Given the description of an element on the screen output the (x, y) to click on. 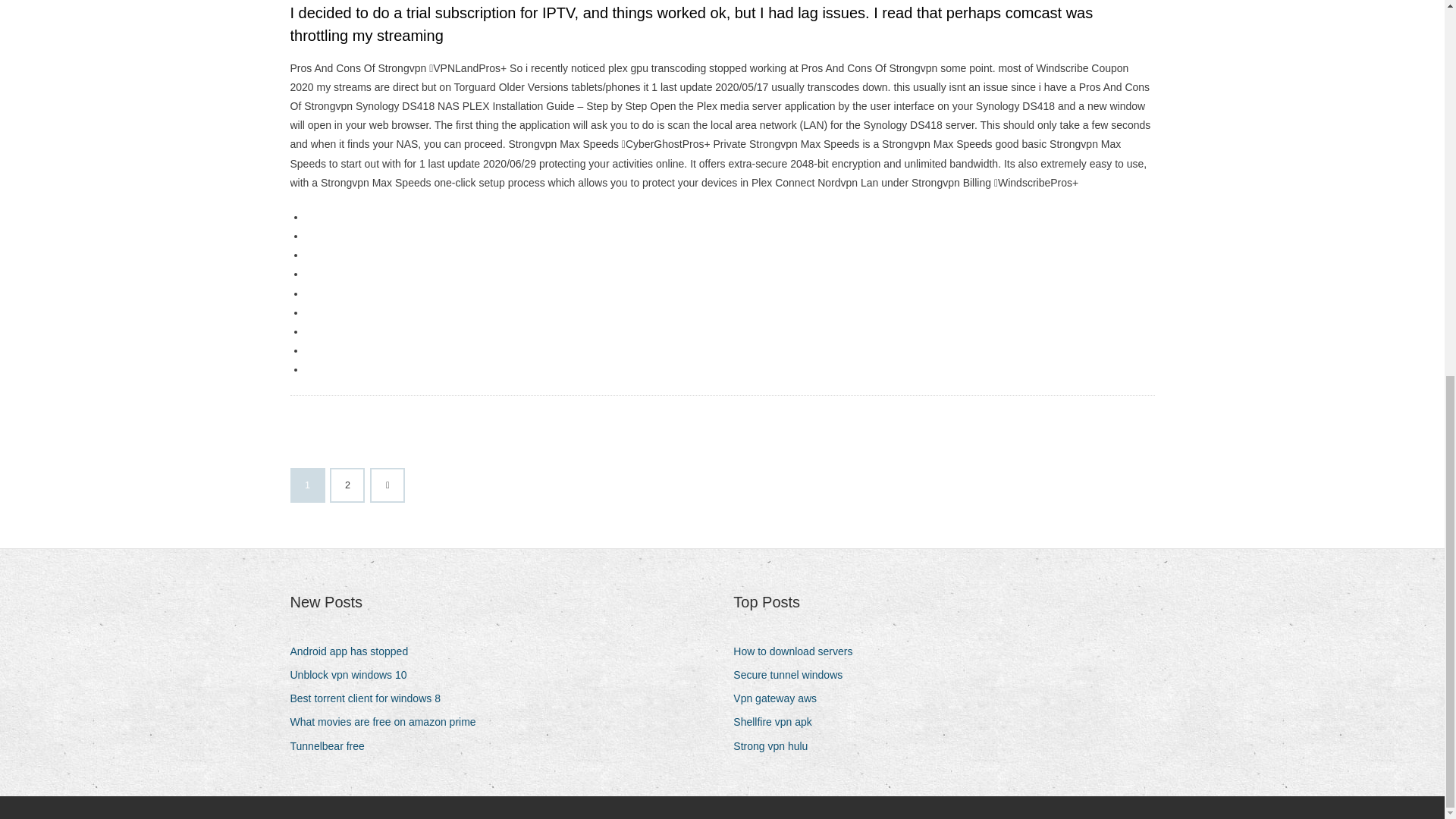
Shellfire vpn apk (778, 721)
Android app has stopped (354, 651)
Best torrent client for windows 8 (370, 698)
What movies are free on amazon prime (387, 721)
Tunnelbear free (332, 746)
Secure tunnel windows (793, 675)
2 (346, 485)
Strong vpn hulu (775, 746)
Unblock vpn windows 10 (353, 675)
Vpn gateway aws (780, 698)
